Given the description of an element on the screen output the (x, y) to click on. 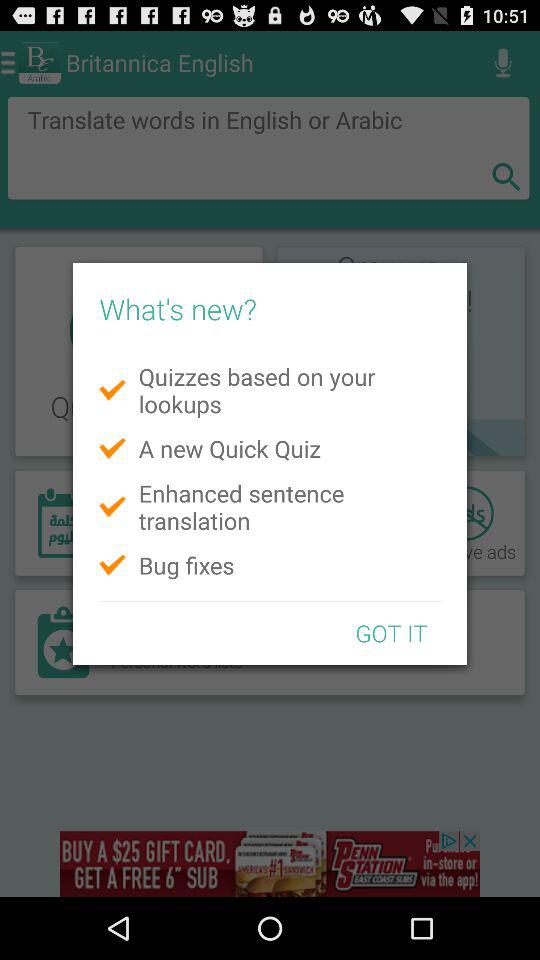
open got it icon (391, 632)
